Given the description of an element on the screen output the (x, y) to click on. 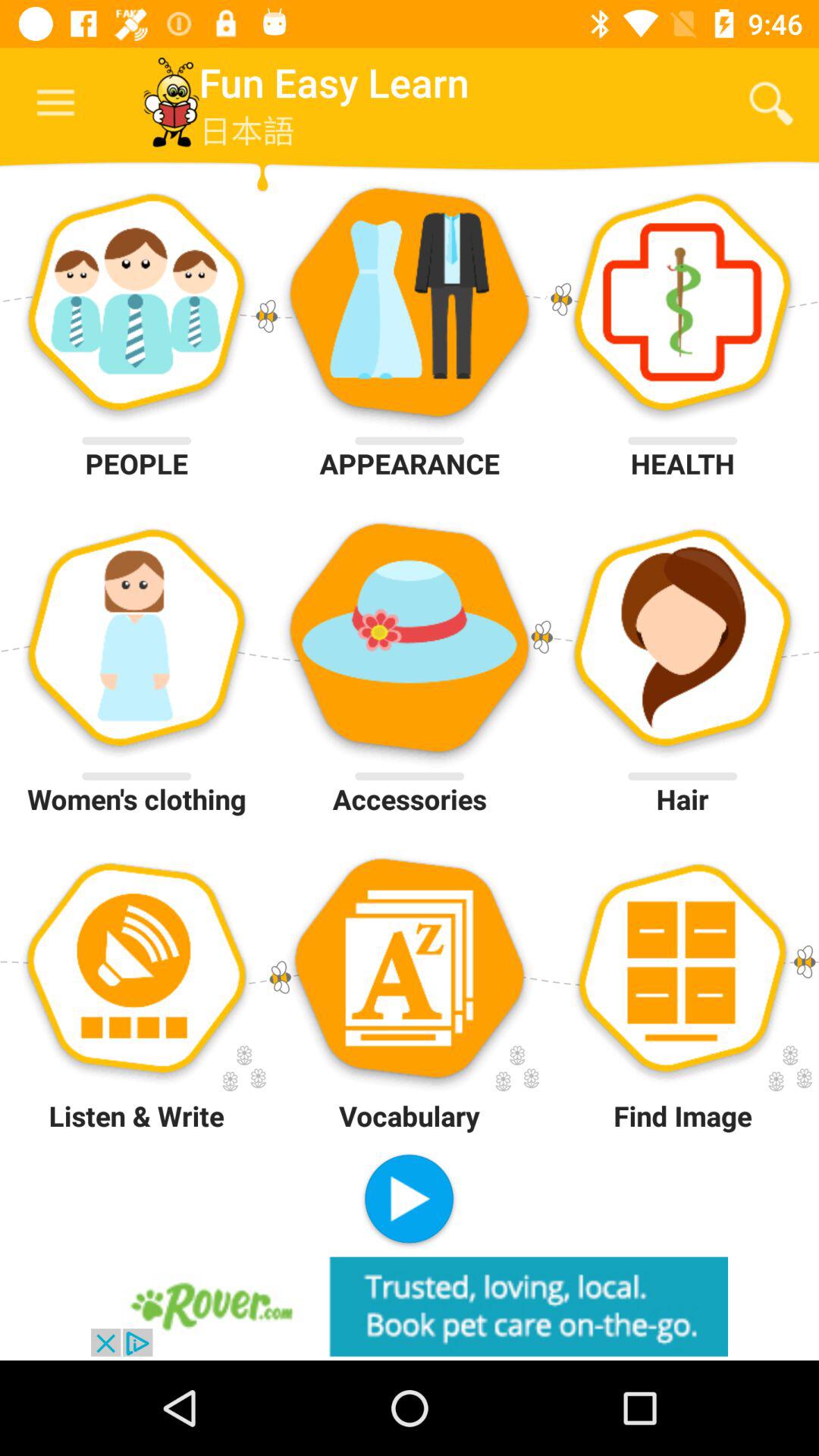
go to advertise (409, 1306)
